Given the description of an element on the screen output the (x, y) to click on. 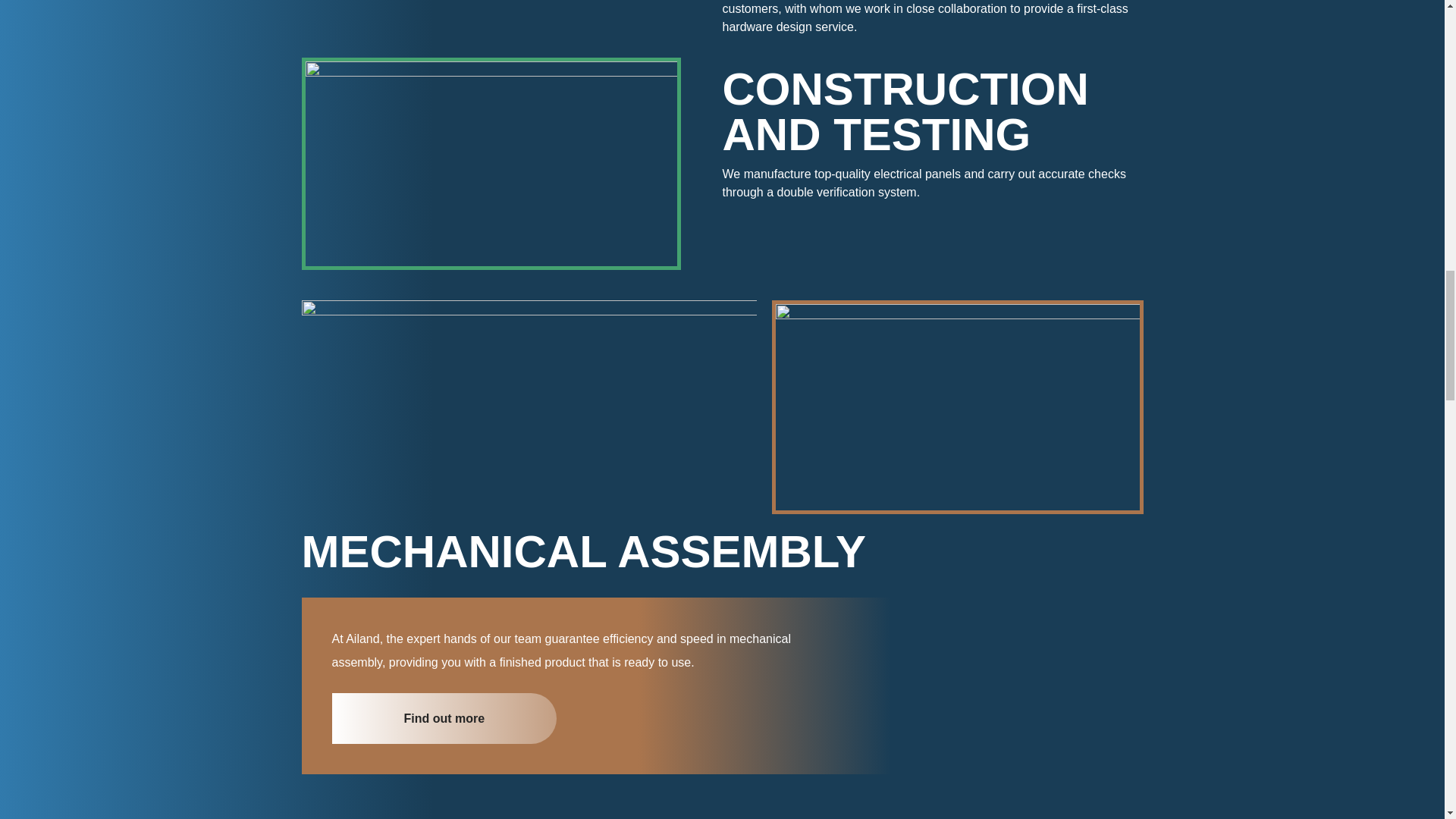
single-prod-gruppi-mecc-2 (956, 406)
archivio-servizi-3 (490, 163)
archivio-servizi-2 (491, 21)
Find out more (444, 717)
archivio-prodotti-6 (529, 394)
